Given the description of an element on the screen output the (x, y) to click on. 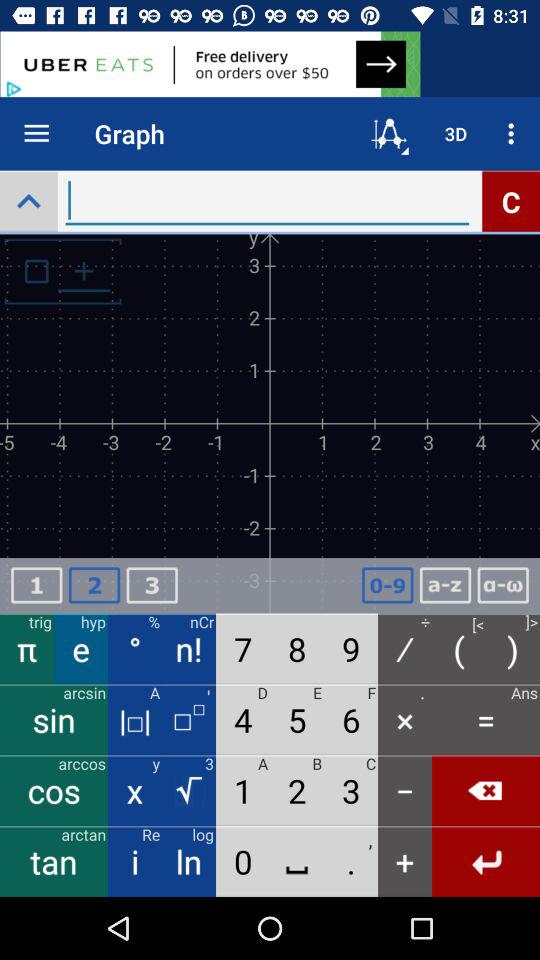
select option 3 (152, 585)
